Given the description of an element on the screen output the (x, y) to click on. 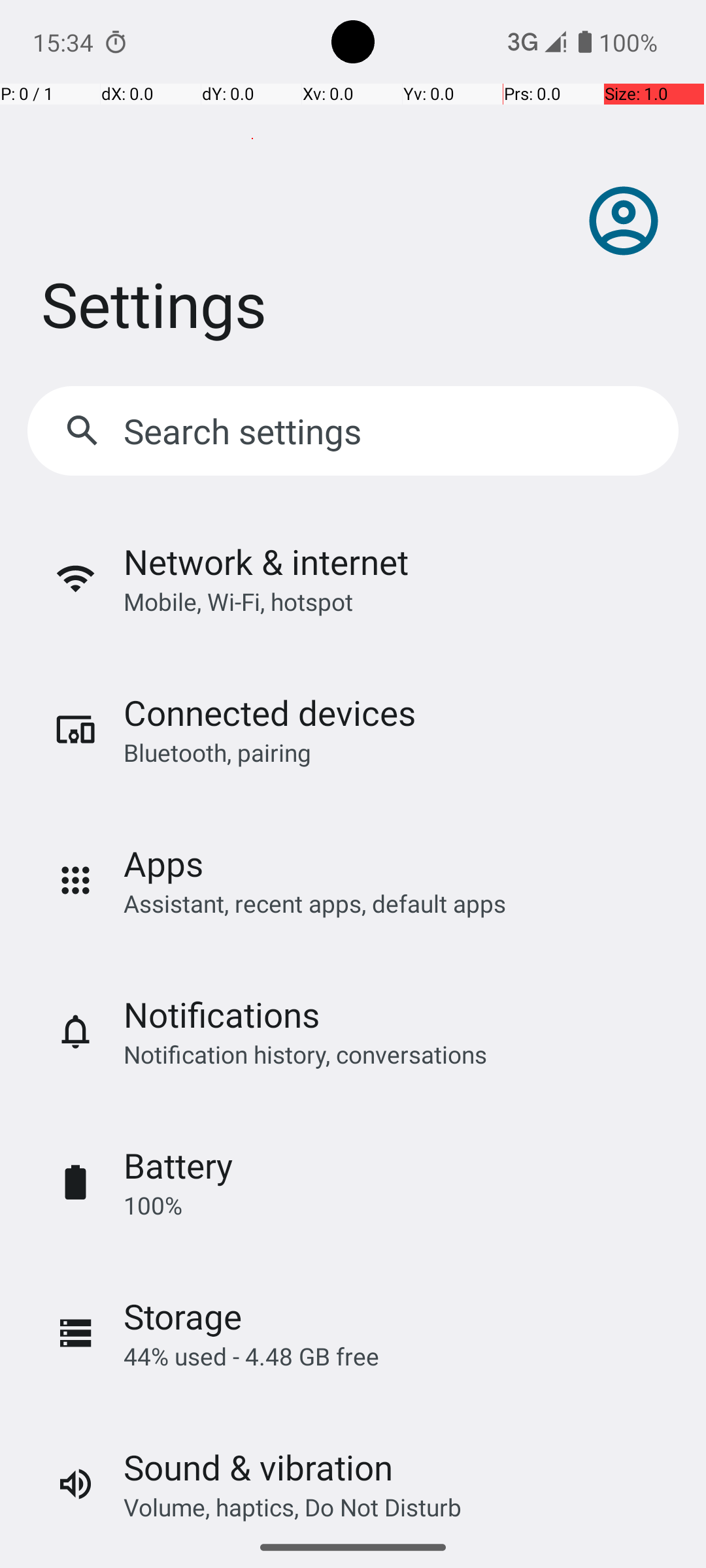
44% used - 4.48 GB free Element type: android.widget.TextView (251, 1355)
